Given the description of an element on the screen output the (x, y) to click on. 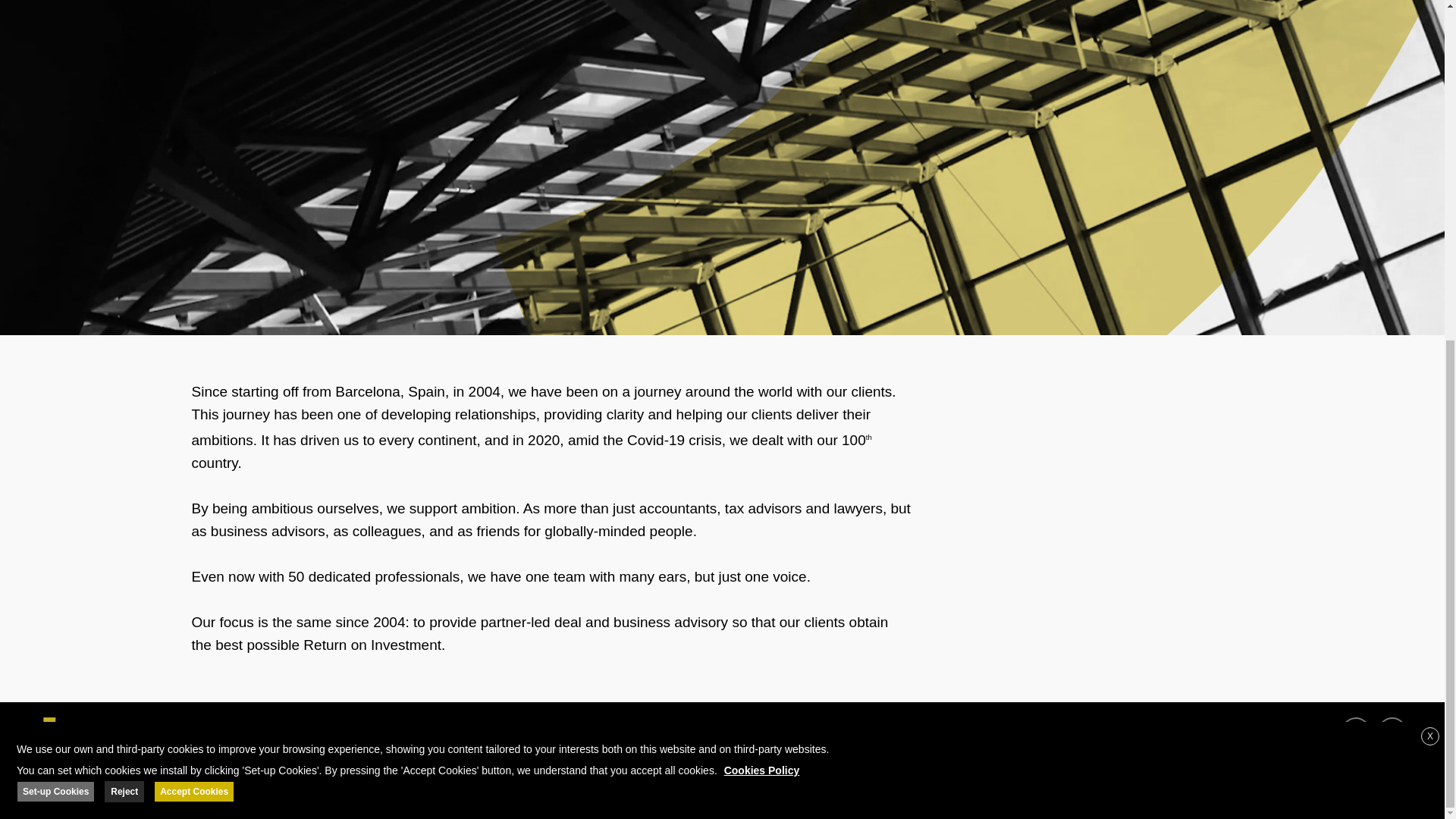
favicon (45, 732)
Close and Accept (1430, 159)
